Given the description of an element on the screen output the (x, y) to click on. 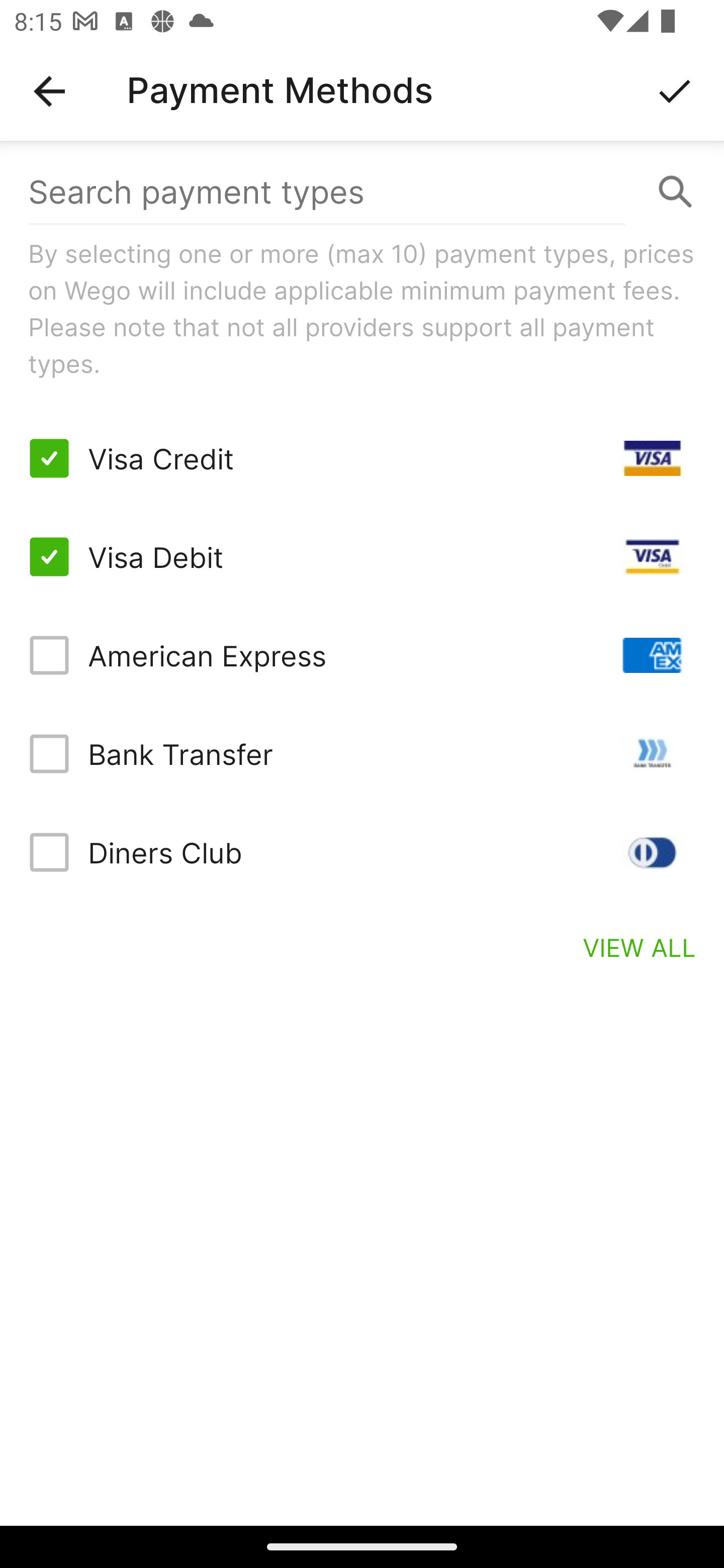
Search payment types  (361, 191)
Visa Credit (362, 458)
Visa Debit (362, 557)
American Express (362, 655)
Bank Transfer (362, 753)
Diners Club (362, 851)
VIEW ALL (639, 946)
